Given the description of an element on the screen output the (x, y) to click on. 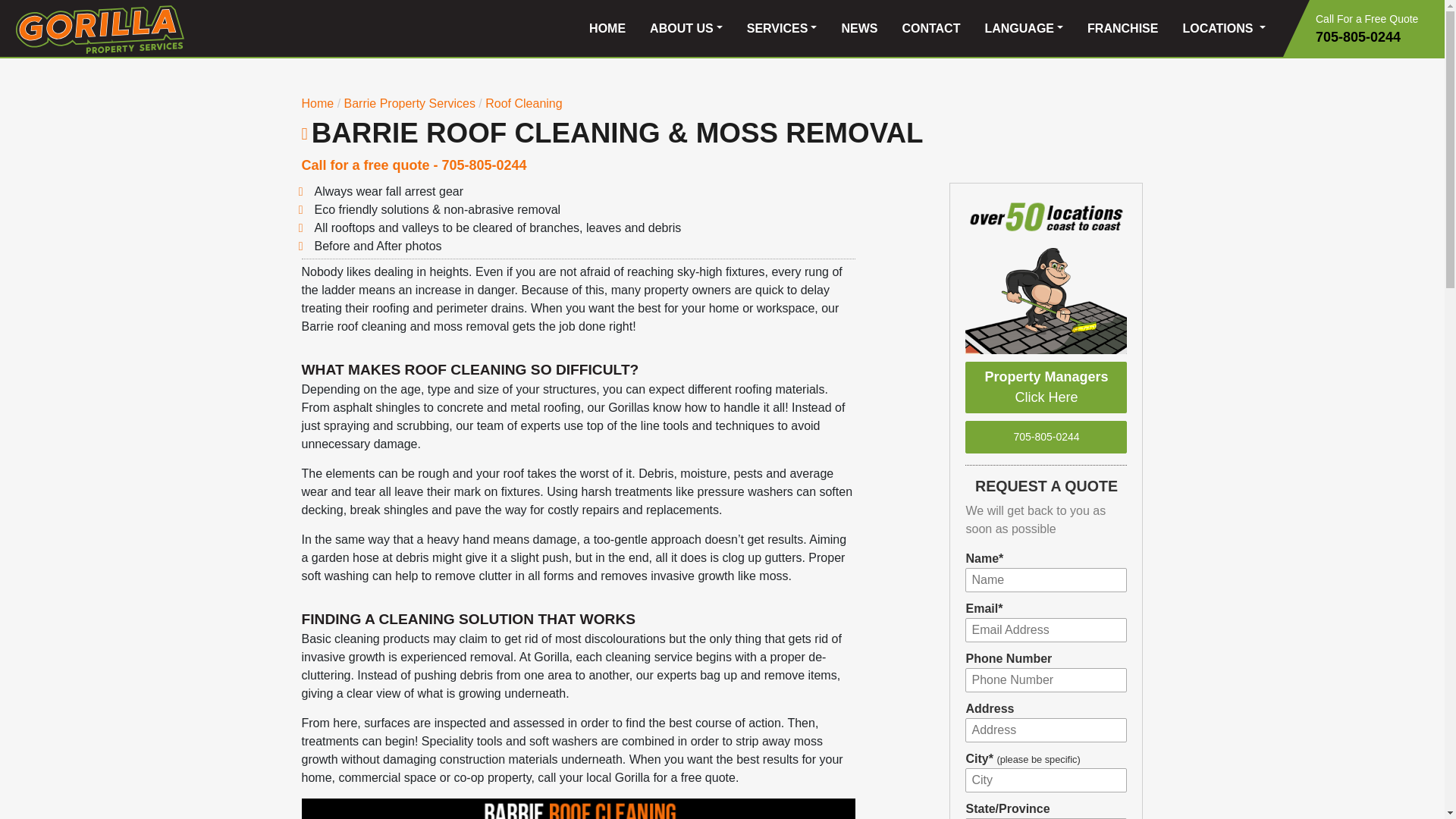
LANGUAGE (1023, 28)
CONTACT (930, 28)
ABOUT US (686, 28)
Services (408, 103)
HOME (606, 28)
SERVICES (782, 28)
NEWS (858, 28)
LOCATIONS (1224, 28)
FRANCHISE (1122, 28)
Home (317, 103)
